Given the description of an element on the screen output the (x, y) to click on. 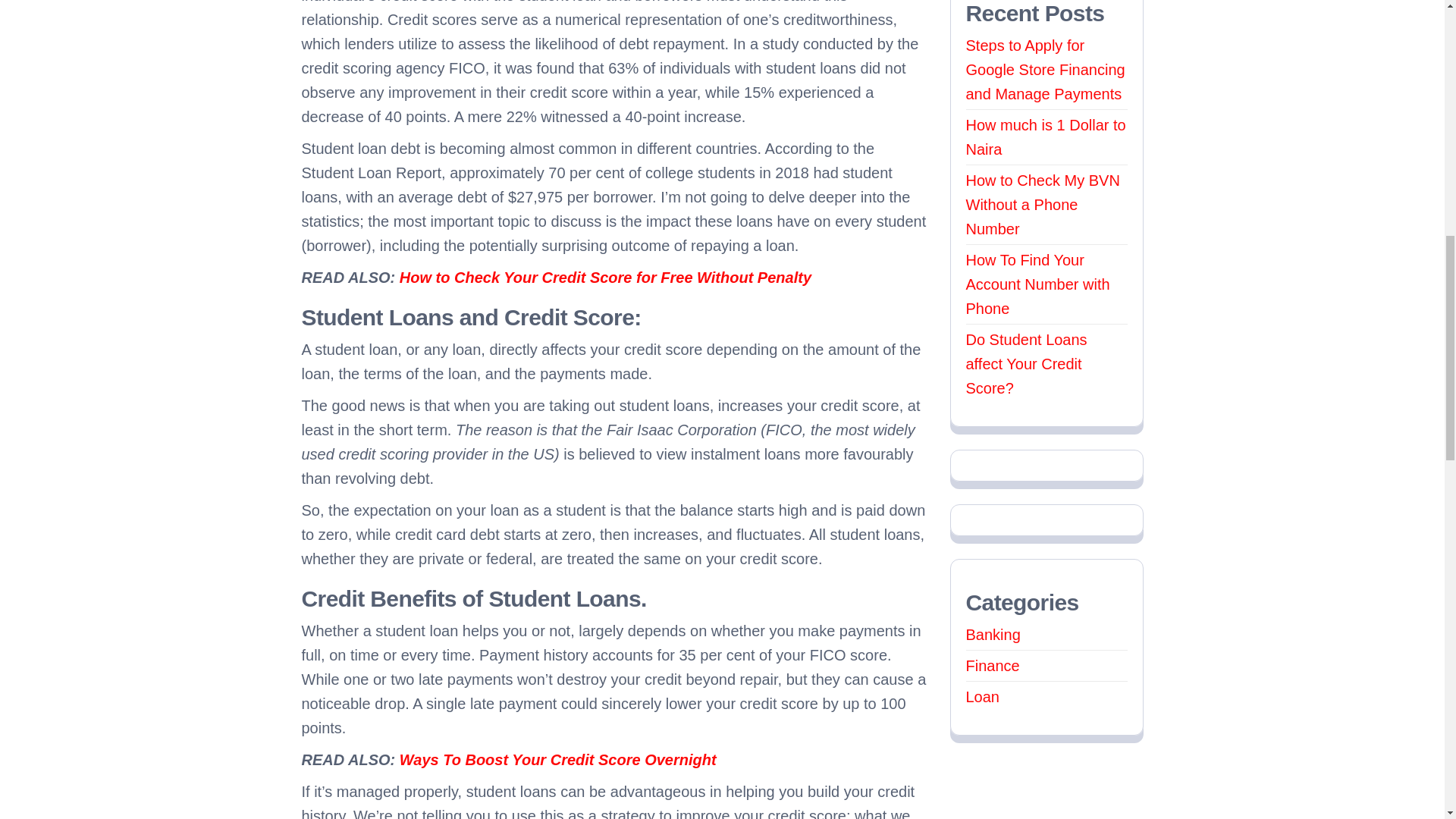
How to Check My BVN Without a Phone Number (1042, 204)
How to Check Your Credit Score for Free Without Penalty (604, 277)
Finance (993, 665)
How To Find Your Account Number with Phone (1037, 283)
Ways To Boost Your Credit Score Overnight (557, 759)
Do Student Loans affect Your Credit Score? (1026, 363)
Loan (983, 696)
Banking (993, 634)
How much is 1 Dollar to Naira (1045, 137)
